Given the description of an element on the screen output the (x, y) to click on. 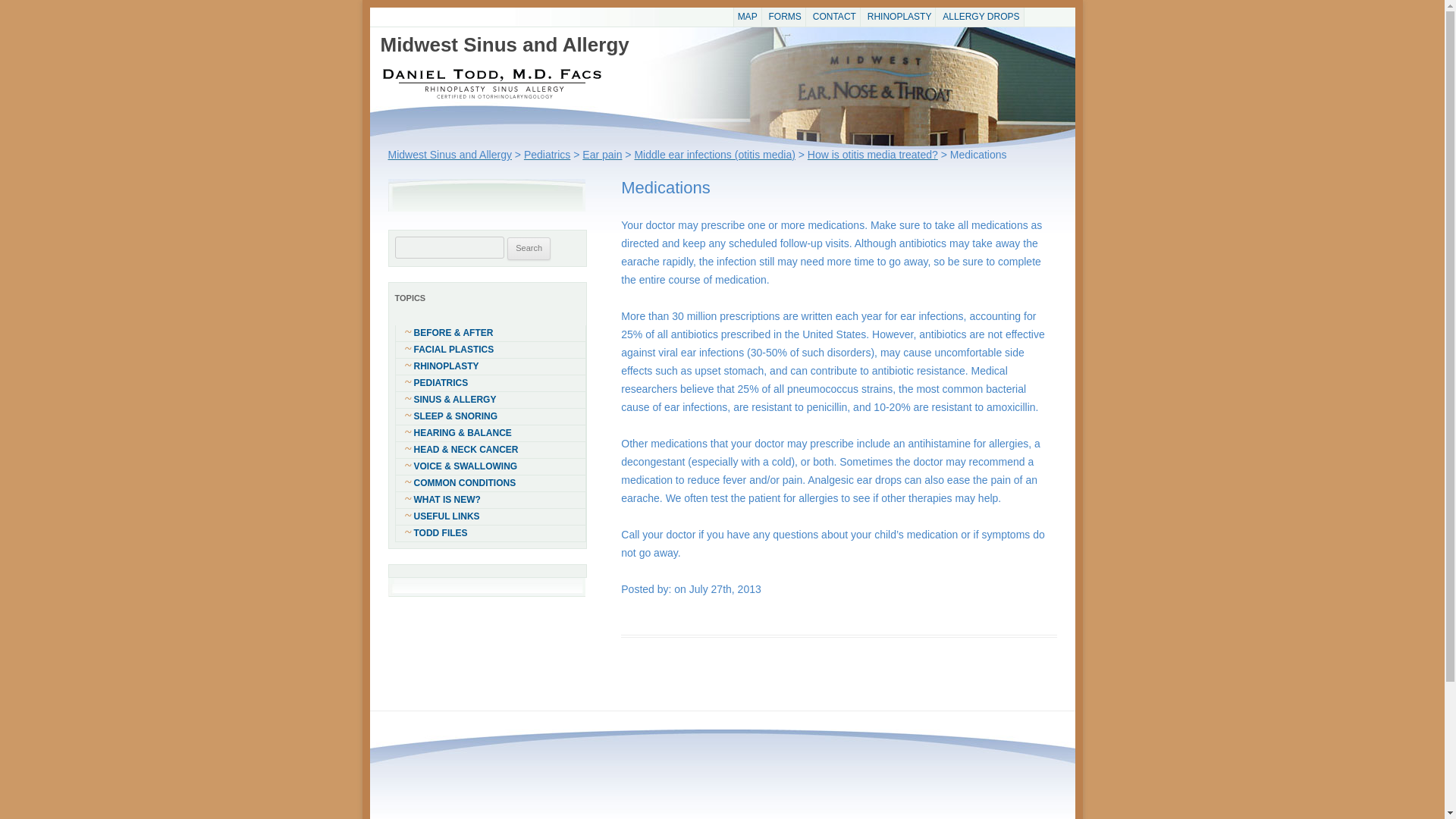
Midwest Sinus and Allergy (450, 154)
Go to How is otitis media treated?. (872, 154)
RHINOPLASTY (490, 366)
Search (528, 248)
MAP (747, 16)
Search (528, 248)
How is otitis media treated? (872, 154)
FACIAL PLASTICS (490, 349)
Go to Ear pain. (601, 154)
USEFUL LINKS (490, 516)
Skip to content (760, 18)
FORMS (785, 16)
Ear pain (601, 154)
WHAT IS NEW? (490, 499)
Go to Midwest Sinus and Allergy. (450, 154)
